Given the description of an element on the screen output the (x, y) to click on. 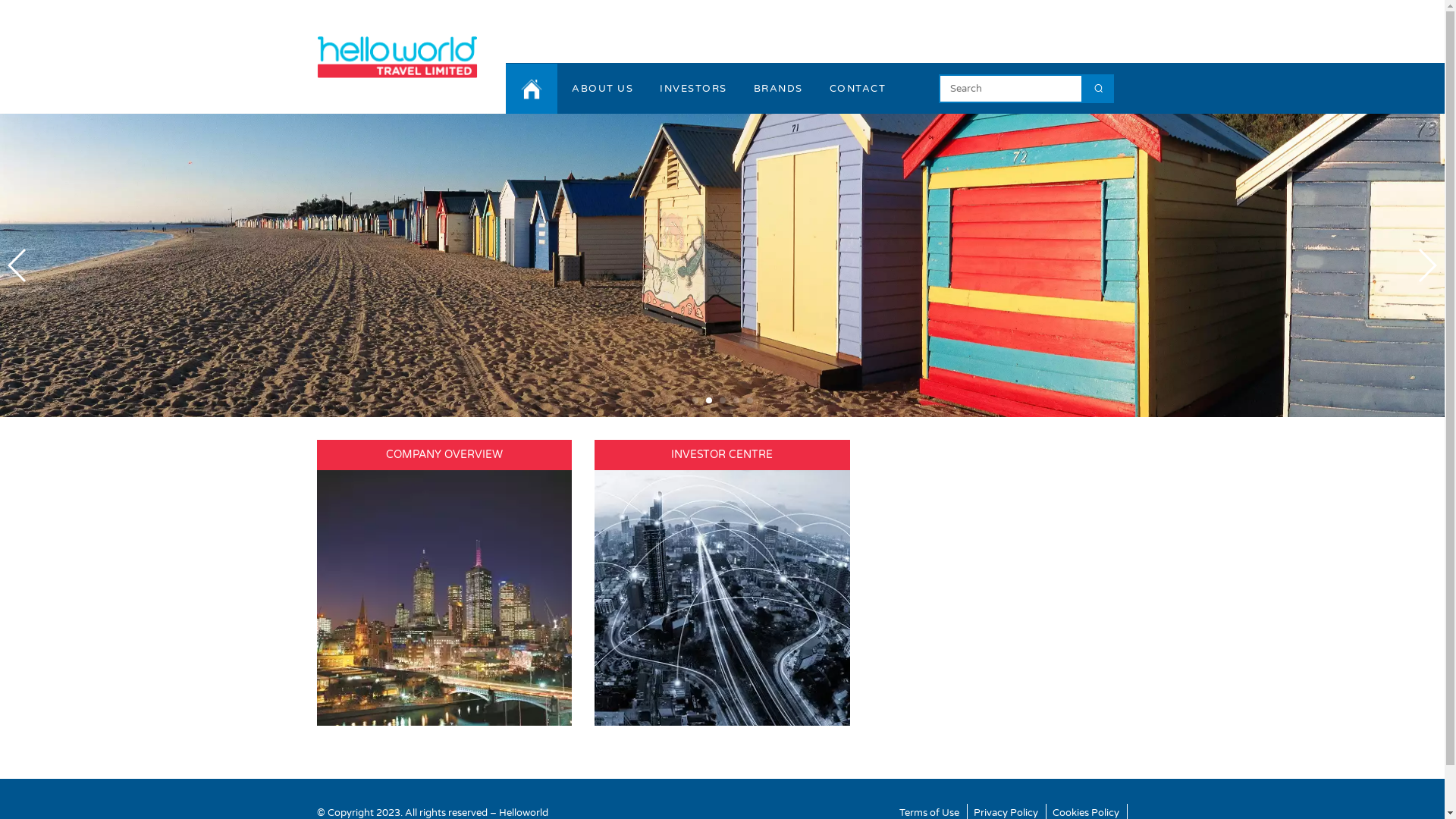
INVESTOR CENTRE Element type: text (721, 454)
BRANDS Element type: text (778, 88)
INVESTORS Element type: text (693, 88)
ABOUT US Element type: text (602, 88)
COMPANY OVERVIEW Element type: text (443, 454)
CONTACT Element type: text (857, 88)
